Given the description of an element on the screen output the (x, y) to click on. 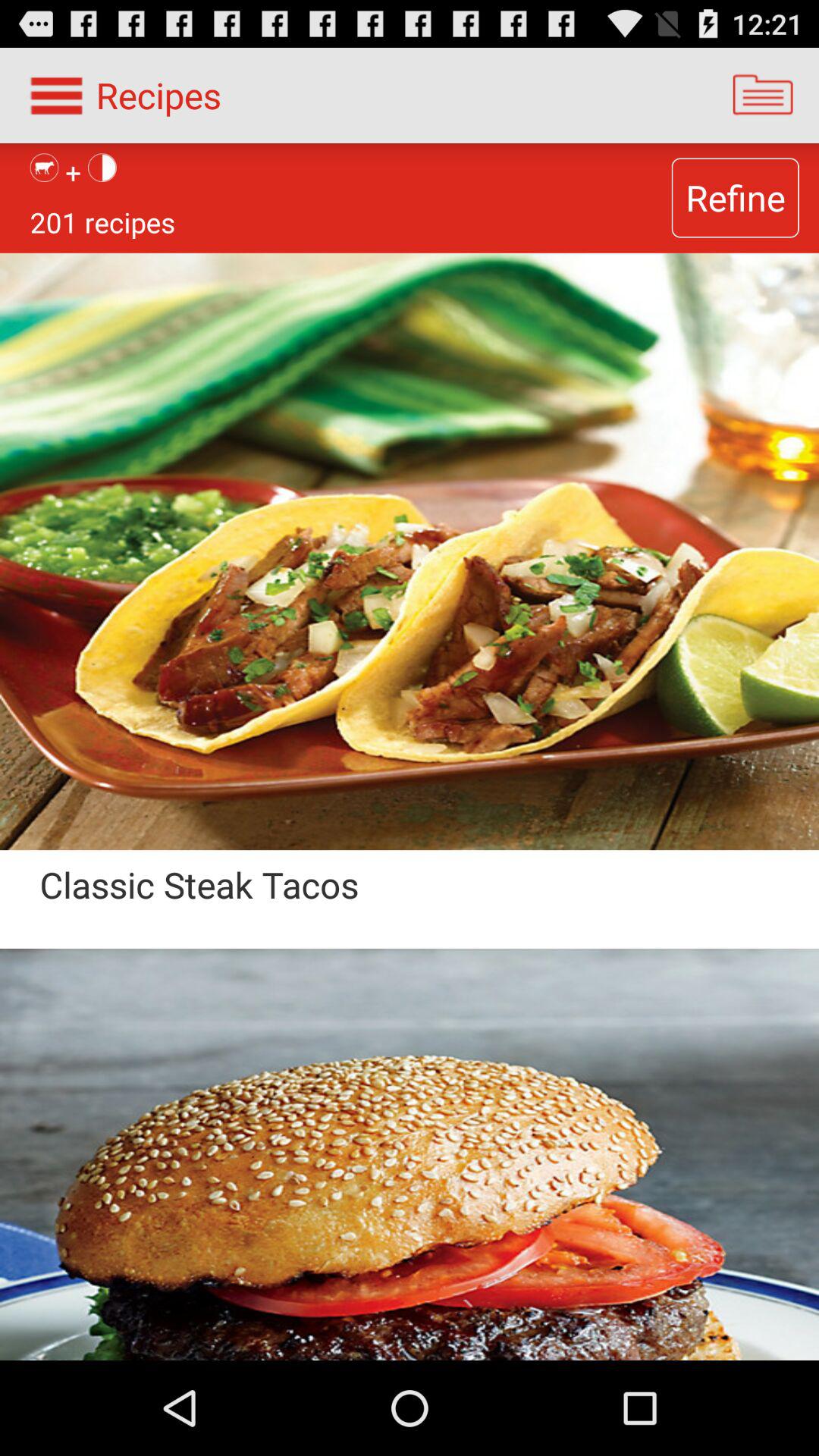
press the item next to 201 recipes  icon (735, 197)
